Given the description of an element on the screen output the (x, y) to click on. 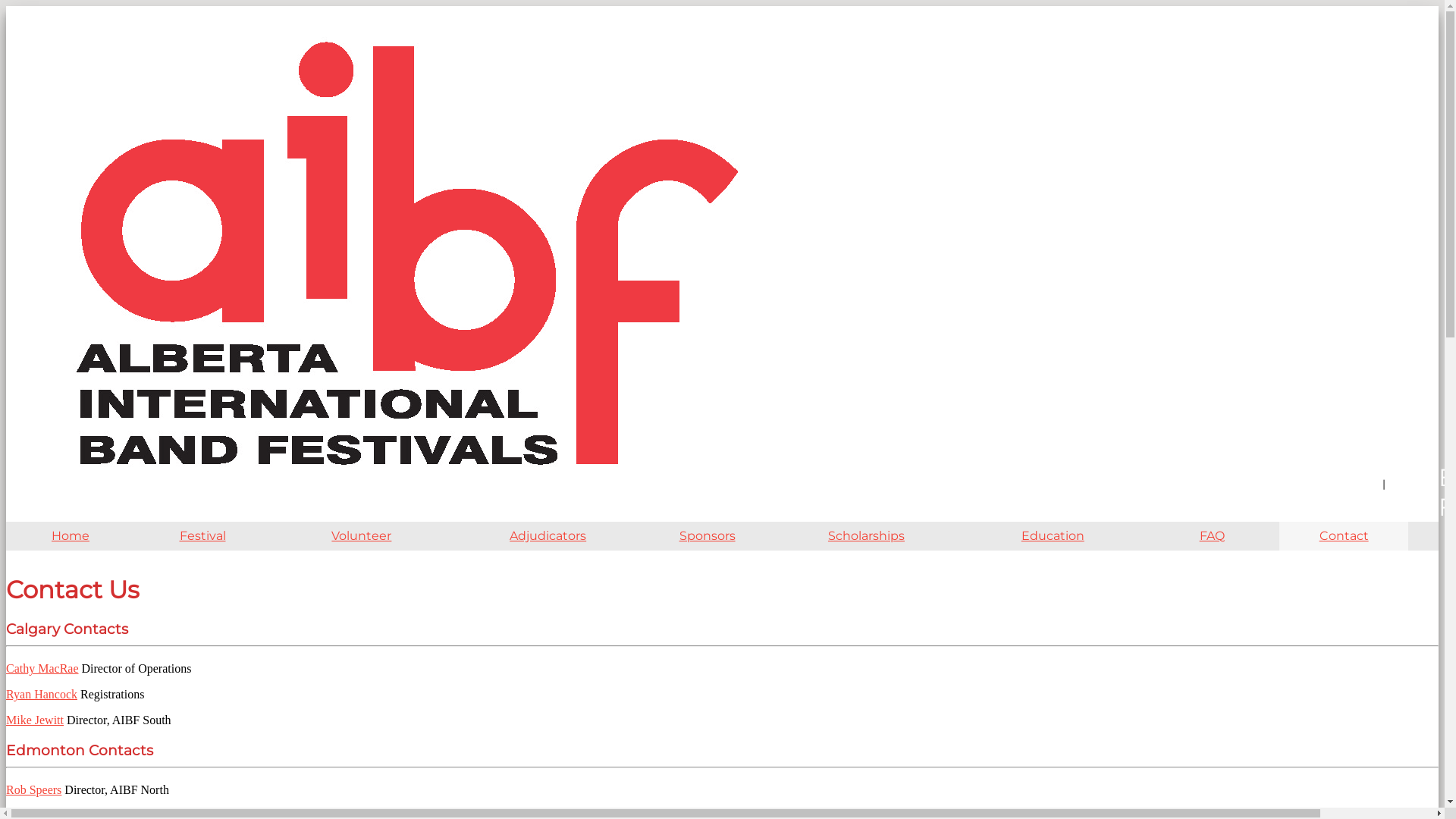
Home Element type: text (70, 535)
Contact Element type: text (1343, 535)
Scholarships Element type: text (866, 535)
Adjudicators Element type: text (548, 535)
FAQ Element type: text (1211, 535)
Calgary Festival Element type: text (1402, 462)
Mike Jewitt Element type: text (34, 719)
Rob Speers Element type: text (33, 789)
Festival Element type: text (202, 535)
Sponsors Element type: text (707, 535)
Cathy MacRae Element type: text (42, 668)
Ryan Hancock Element type: text (41, 693)
Education Element type: text (1052, 535)
Register Now! Element type: text (1404, 503)
Volunteer Element type: text (361, 535)
